Given the description of an element on the screen output the (x, y) to click on. 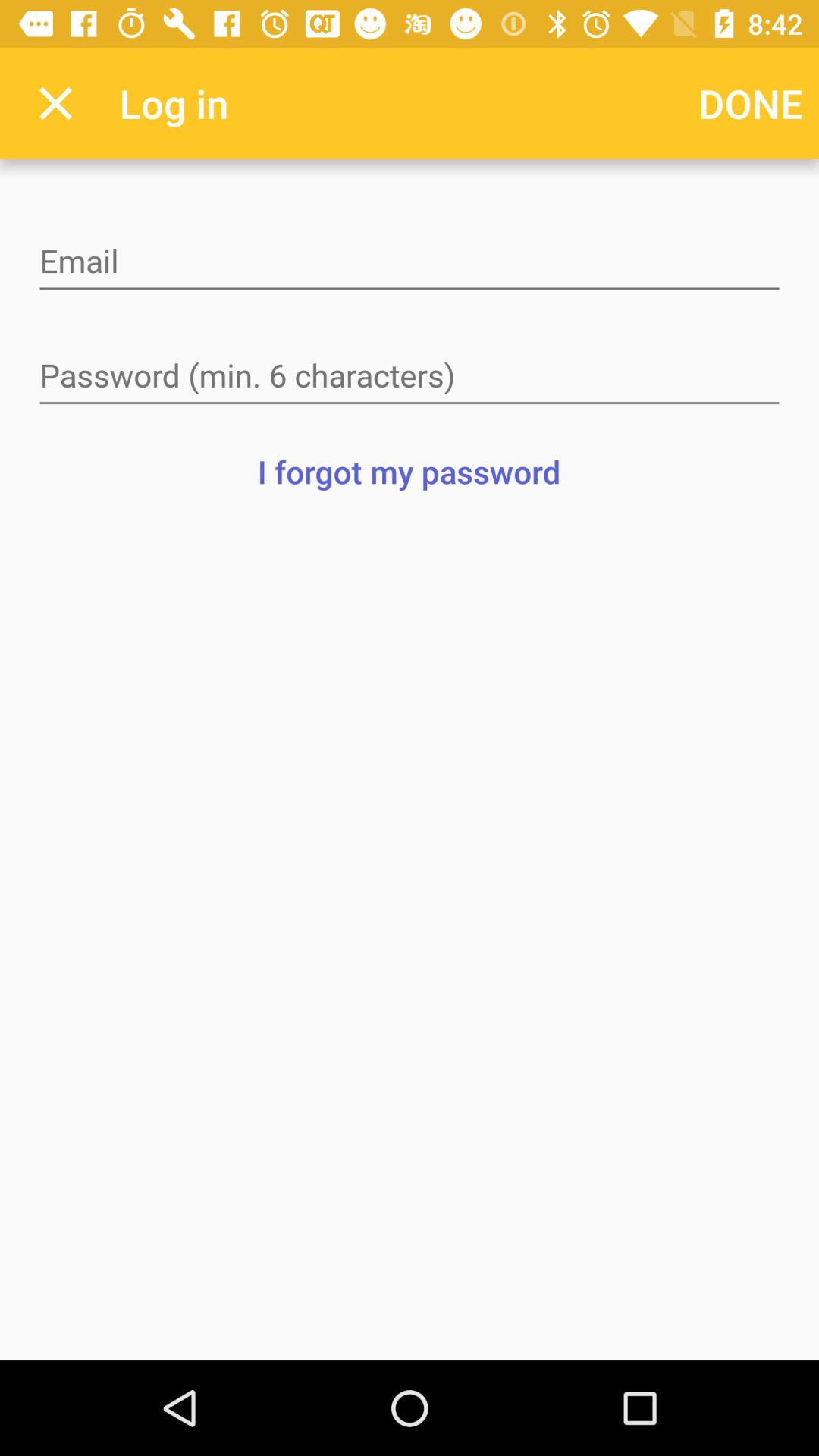
email i.d (409, 262)
